Given the description of an element on the screen output the (x, y) to click on. 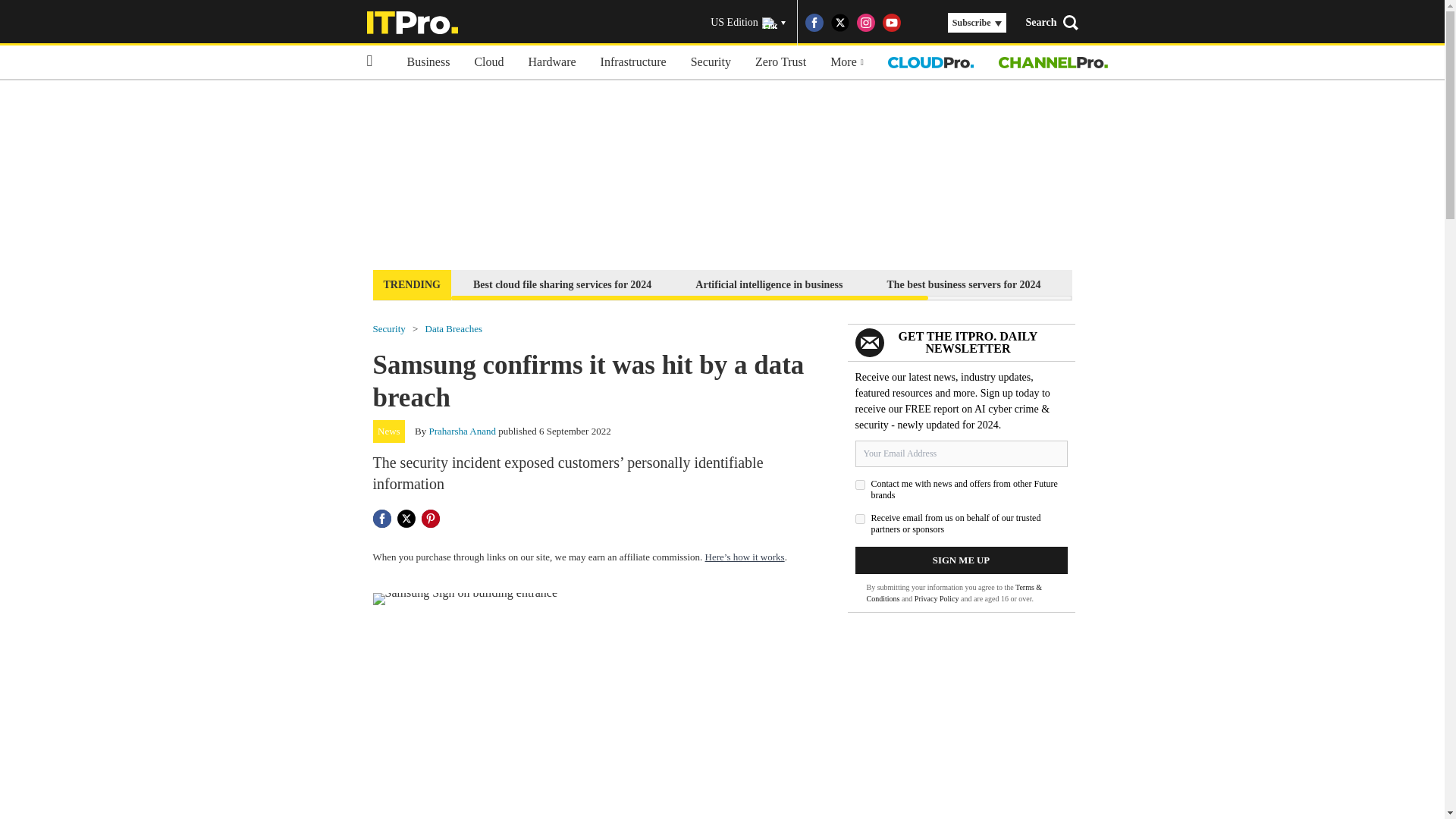
Security (710, 61)
Business (427, 61)
RSS (917, 22)
Infrastructure (633, 61)
on (860, 519)
News (389, 431)
Data Breaches (453, 327)
US Edition (748, 22)
Praharsha Anand (462, 430)
Cloud (488, 61)
